Given the description of an element on the screen output the (x, y) to click on. 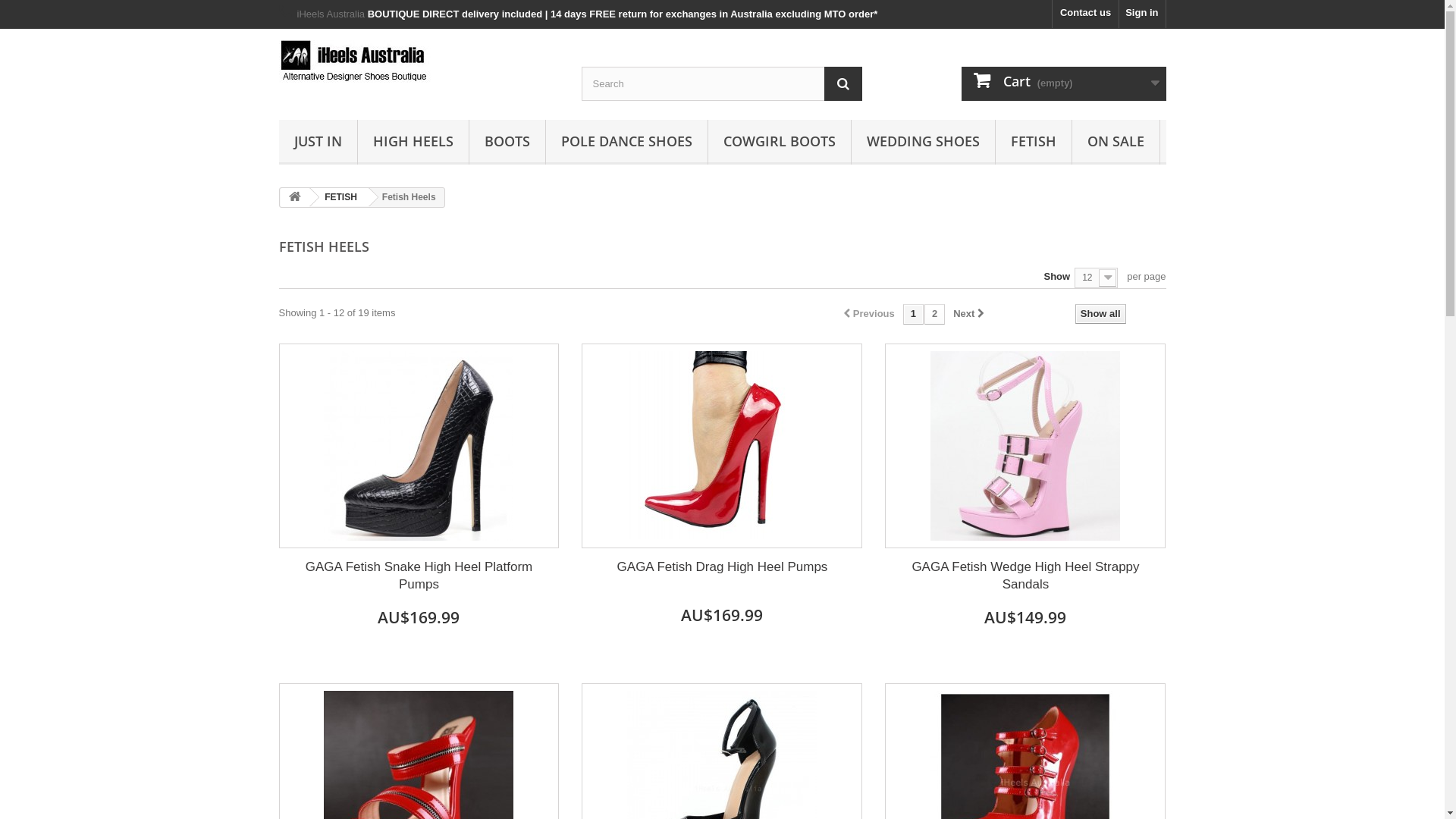
HIGH HEELS Element type: text (412, 141)
FETISH Element type: text (337, 197)
GAGA Fetish Snake High Heel Platform Pumps Element type: text (418, 575)
Sign in Element type: text (1141, 14)
Return to Home Element type: hover (294, 197)
POLE DANCE SHOES Element type: text (626, 141)
COWGIRL BOOTS Element type: text (779, 141)
DRAG Pink Fetish 7 Inch Wedge Heel Strappy Sandals Element type: hover (1025, 445)
Next Element type: text (968, 314)
WEDDING SHOES Element type: text (922, 141)
GAGA Fetish Drag High Heel Pumps Element type: hover (721, 445)
JUST IN Element type: text (318, 141)
Cart (empty) Element type: text (1063, 83)
GAGA Fetish Snake High Heel Platform Pumps Element type: hover (419, 445)
GAGA Fetish Drag High Heel Pumps Element type: text (721, 566)
GAGA Black Snake Fetish High Heel Platform Drag Pumps Element type: hover (418, 445)
FETISH Element type: text (1032, 141)
2 Element type: text (934, 314)
Show all Element type: text (1100, 313)
GAGA Fetish Wedge High Heel Strappy Sandals Element type: text (1025, 575)
GAGA Red Fetish High Heel Drag Pumps Element type: hover (721, 445)
GAGA Fetish Wedge High Heel Strappy Sandals Element type: hover (1024, 445)
iHeels Australia Element type: hover (419, 62)
Contact us Element type: text (1085, 14)
BOOTS Element type: text (506, 141)
ON SALE Element type: text (1115, 141)
